Given the description of an element on the screen output the (x, y) to click on. 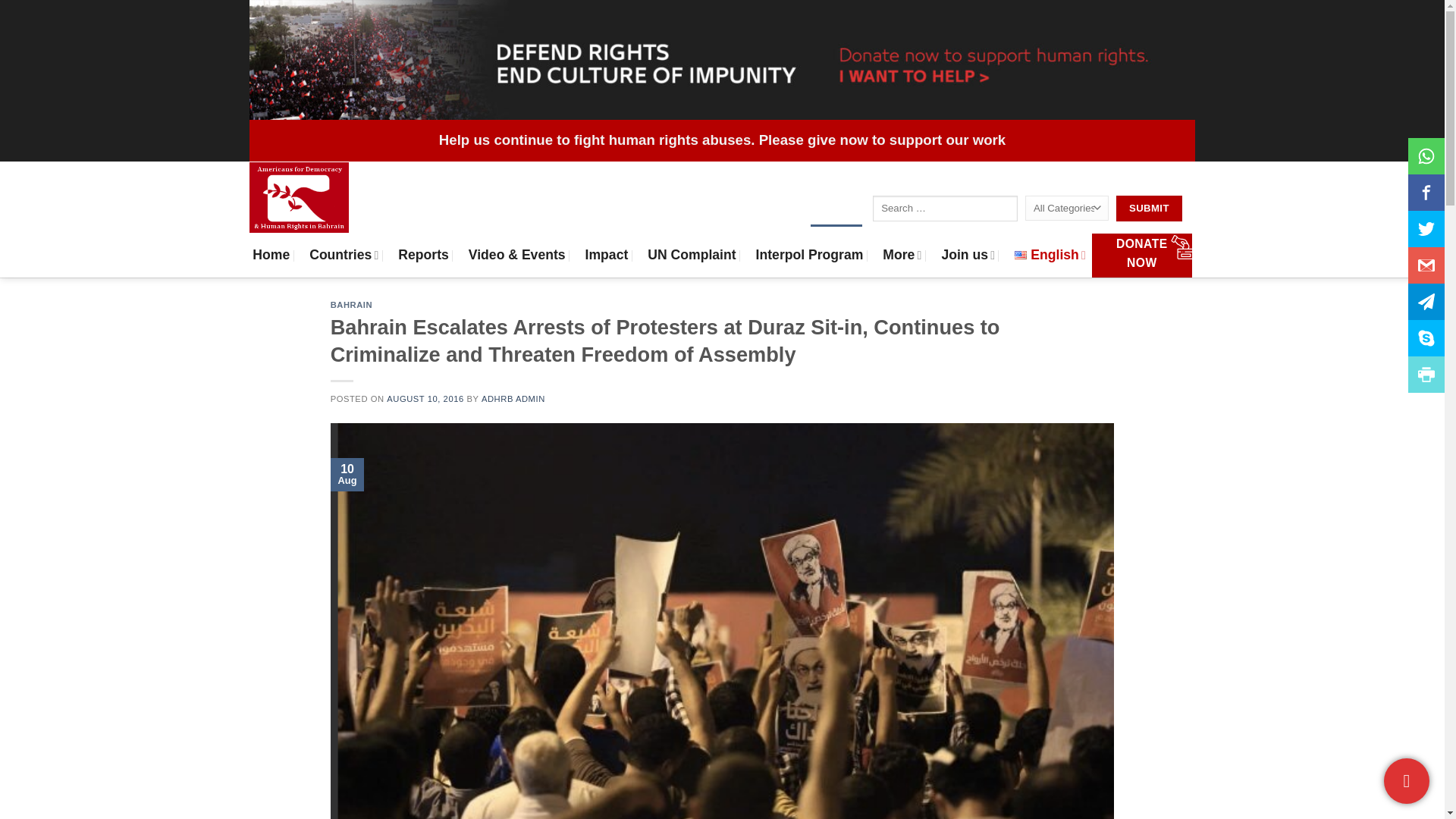
Interpol Program (809, 255)
Cart (1182, 246)
Join us (967, 255)
ABOUT US (735, 211)
AT THE UN (557, 211)
More (901, 255)
STORIES OF VICTIMS (645, 211)
Countries (343, 255)
Submit (1149, 208)
UN Complaint (691, 255)
Impact (606, 255)
Reports (422, 255)
Home (270, 255)
ENGLISH (835, 211)
